Given the description of an element on the screen output the (x, y) to click on. 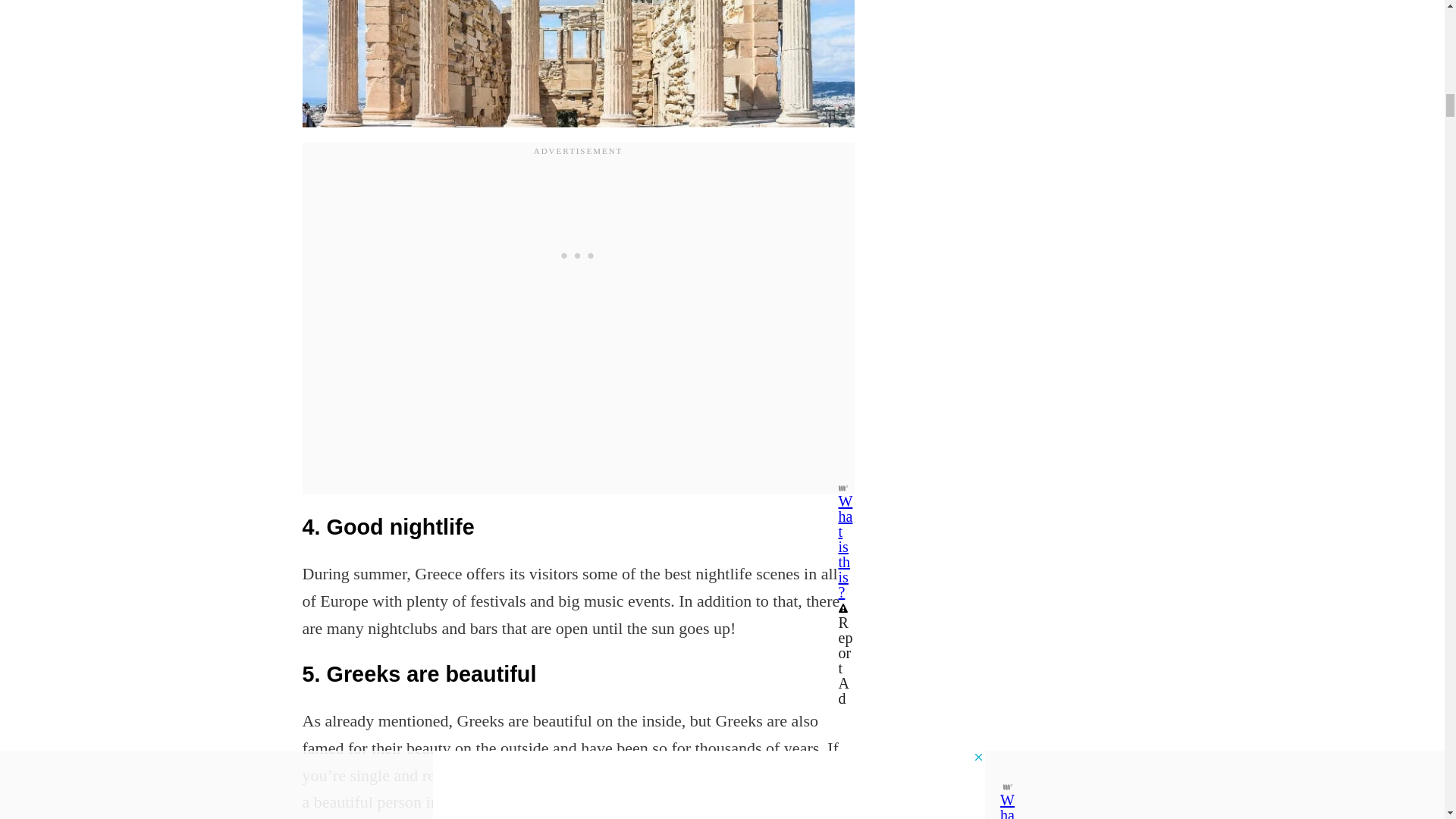
3rd party ad content (577, 255)
